Given the description of an element on the screen output the (x, y) to click on. 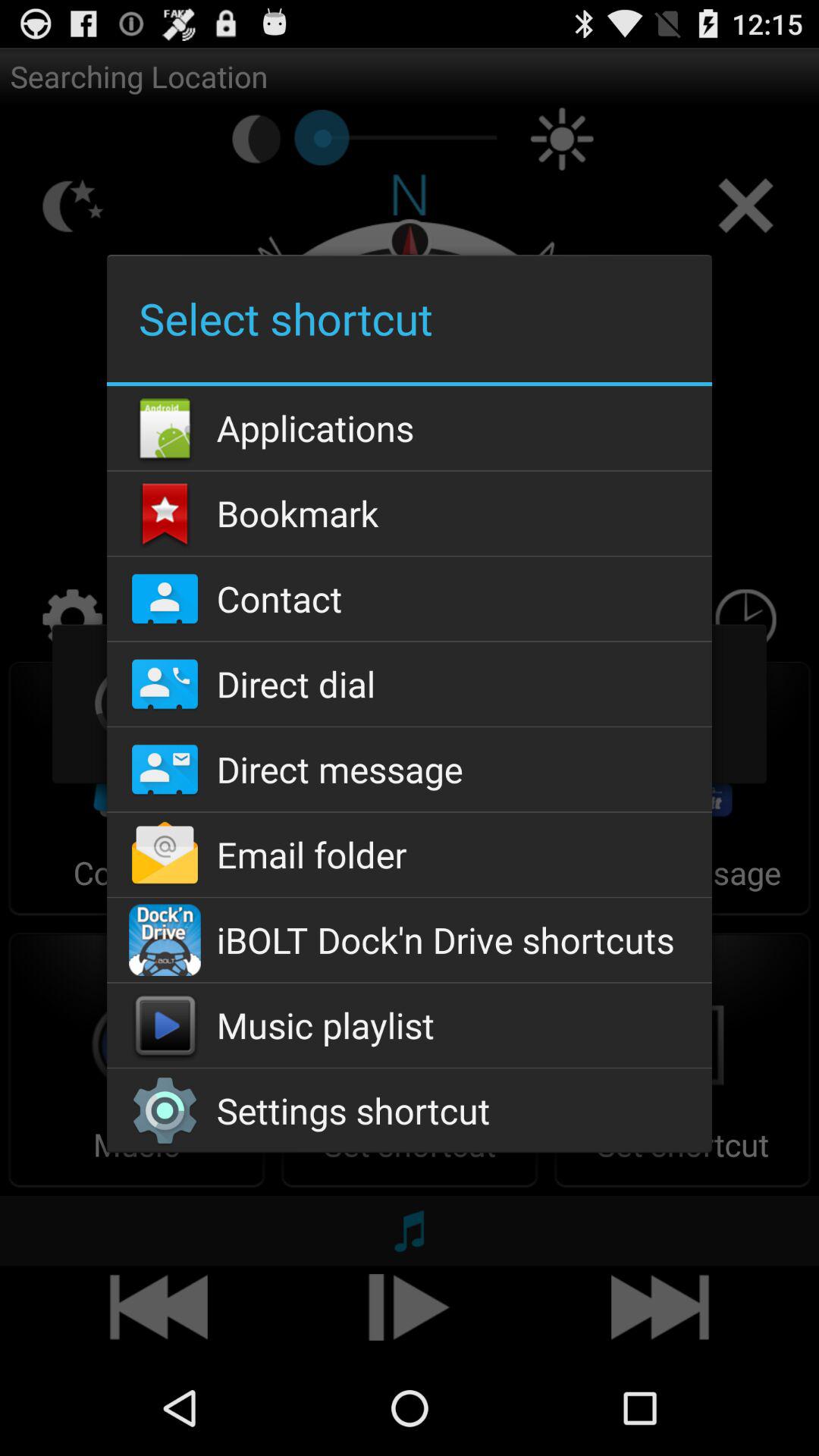
flip until direct dial (409, 684)
